Given the description of an element on the screen output the (x, y) to click on. 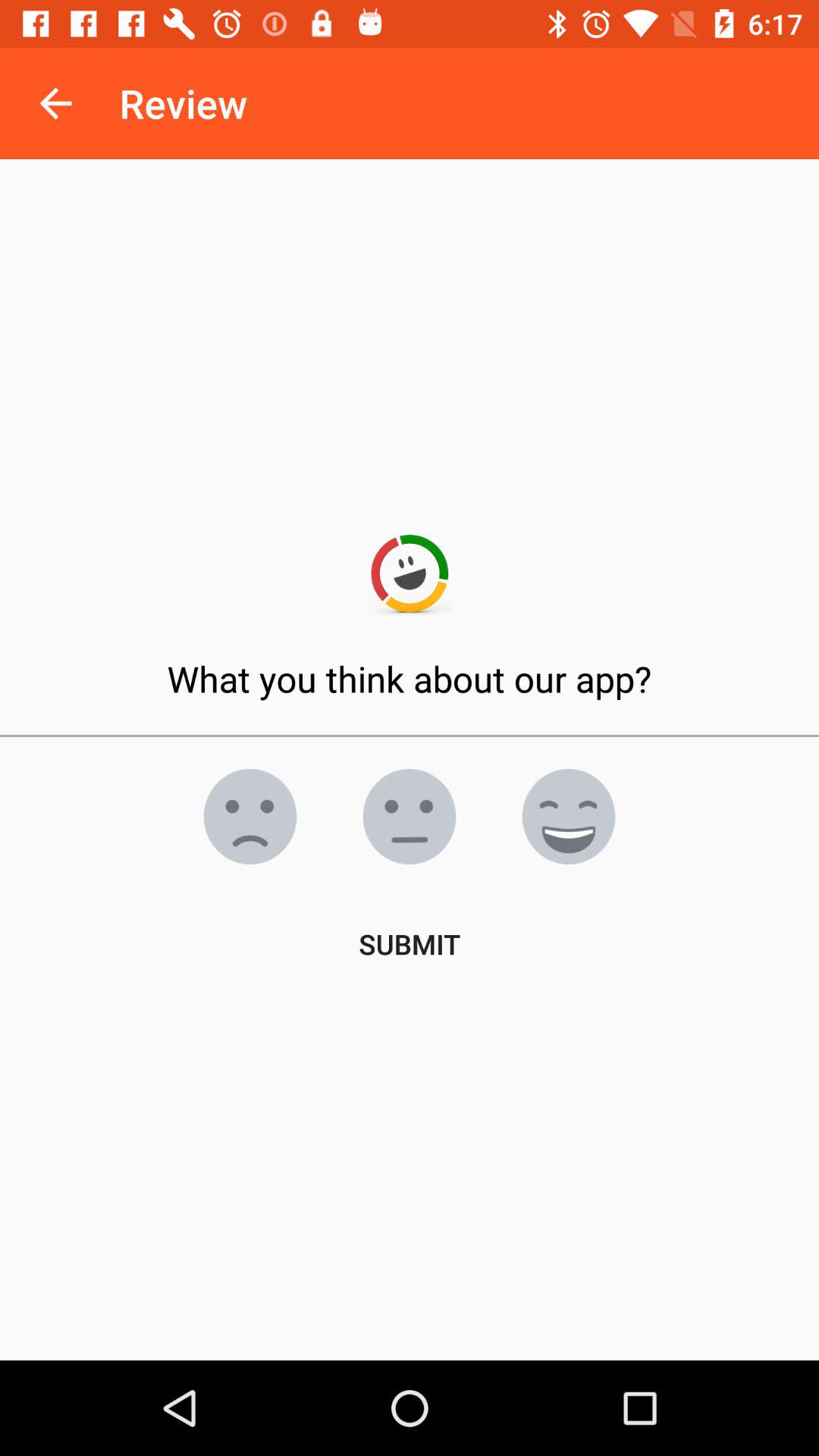
turn on item next to the review item (55, 103)
